Given the description of an element on the screen output the (x, y) to click on. 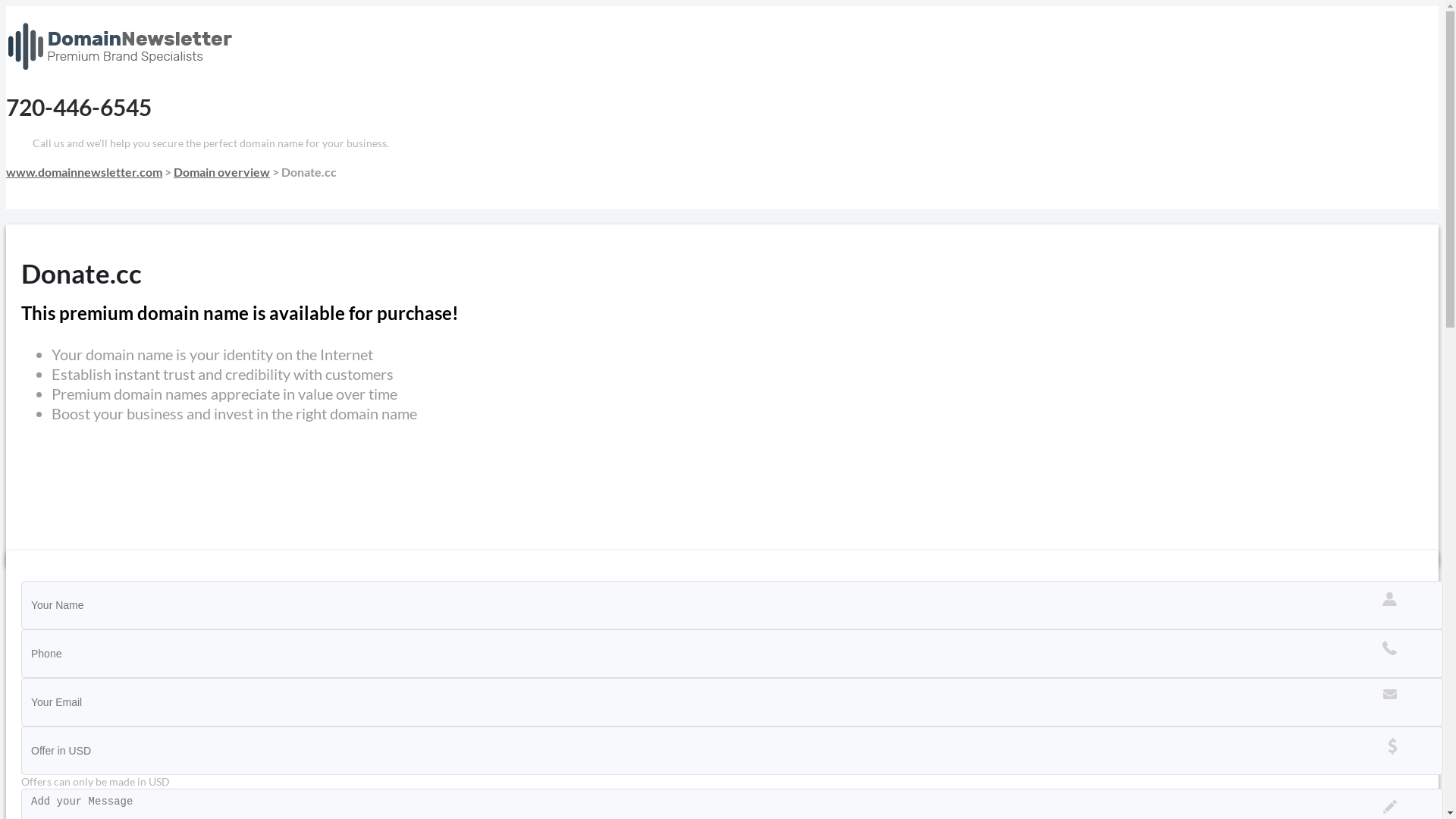
www.domainnewsletter.com Element type: text (84, 171)
Domain overview Element type: text (221, 171)
